Given the description of an element on the screen output the (x, y) to click on. 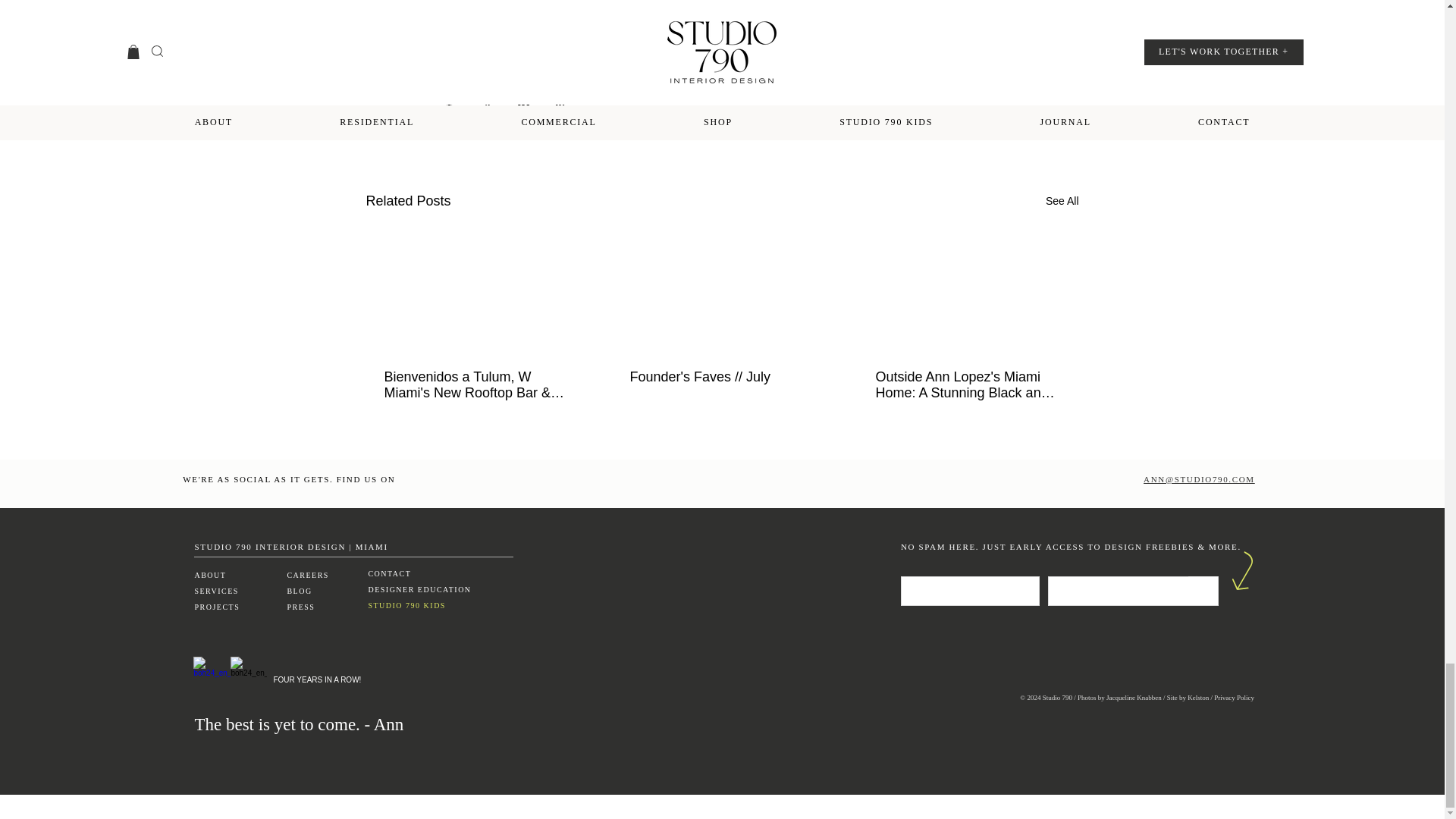
CONTACT (389, 573)
DESIGNER EDUCATION (419, 589)
CAREERS (307, 574)
PROJECTS (216, 606)
STUDIO 790 KIDS (406, 605)
ABOUT (209, 574)
See All (1061, 201)
SERVICES  (217, 591)
